Given the description of an element on the screen output the (x, y) to click on. 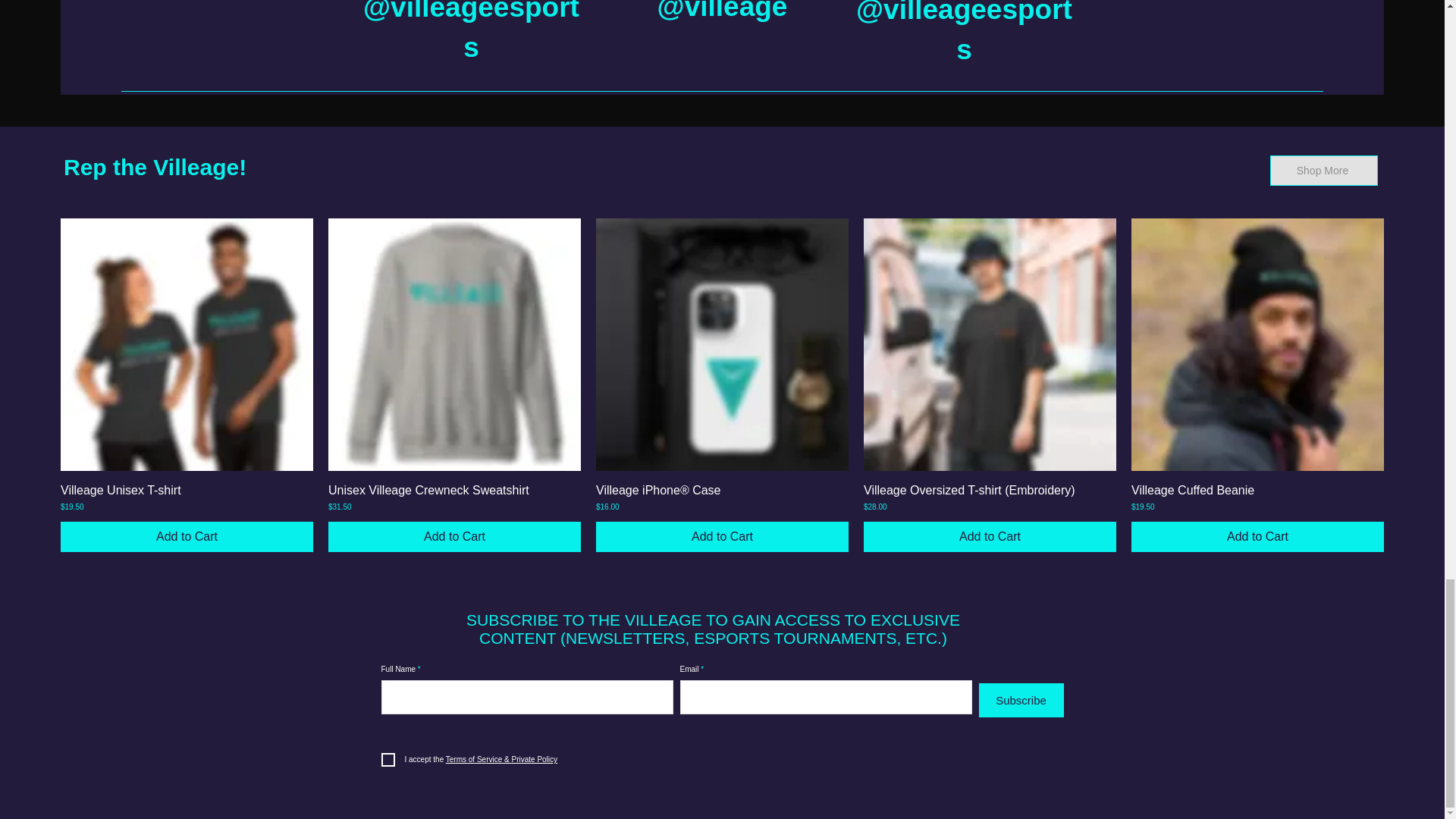
Add to Cart (721, 536)
Add to Cart (989, 536)
Add to Cart (1257, 536)
Add to Cart (454, 536)
Shop More (1323, 170)
Add to Cart (187, 536)
Subscribe (1020, 700)
